Given the description of an element on the screen output the (x, y) to click on. 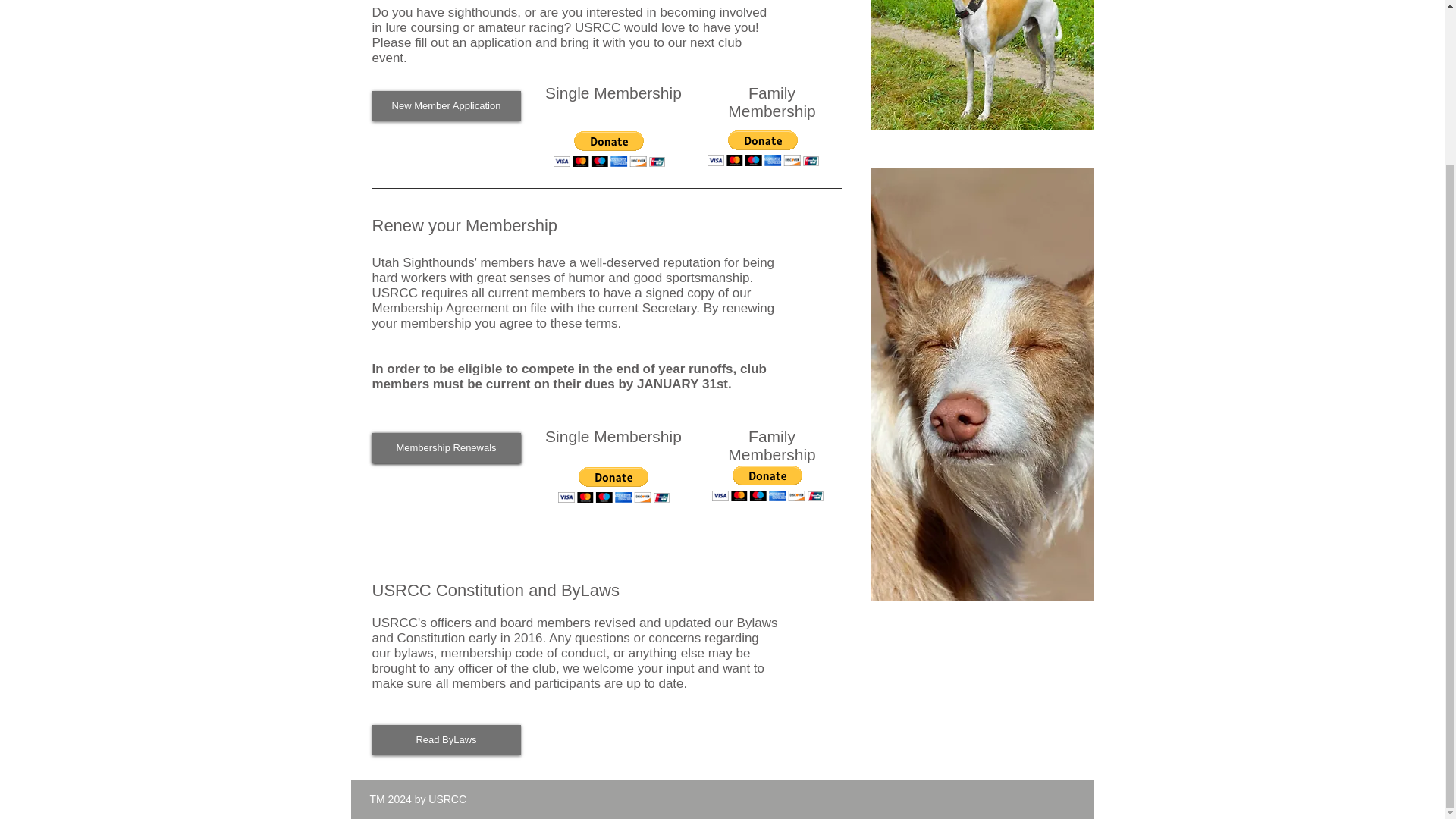
Read ByLaws (445, 739)
Membership Renewals (445, 448)
New Member Application (445, 105)
